Given the description of an element on the screen output the (x, y) to click on. 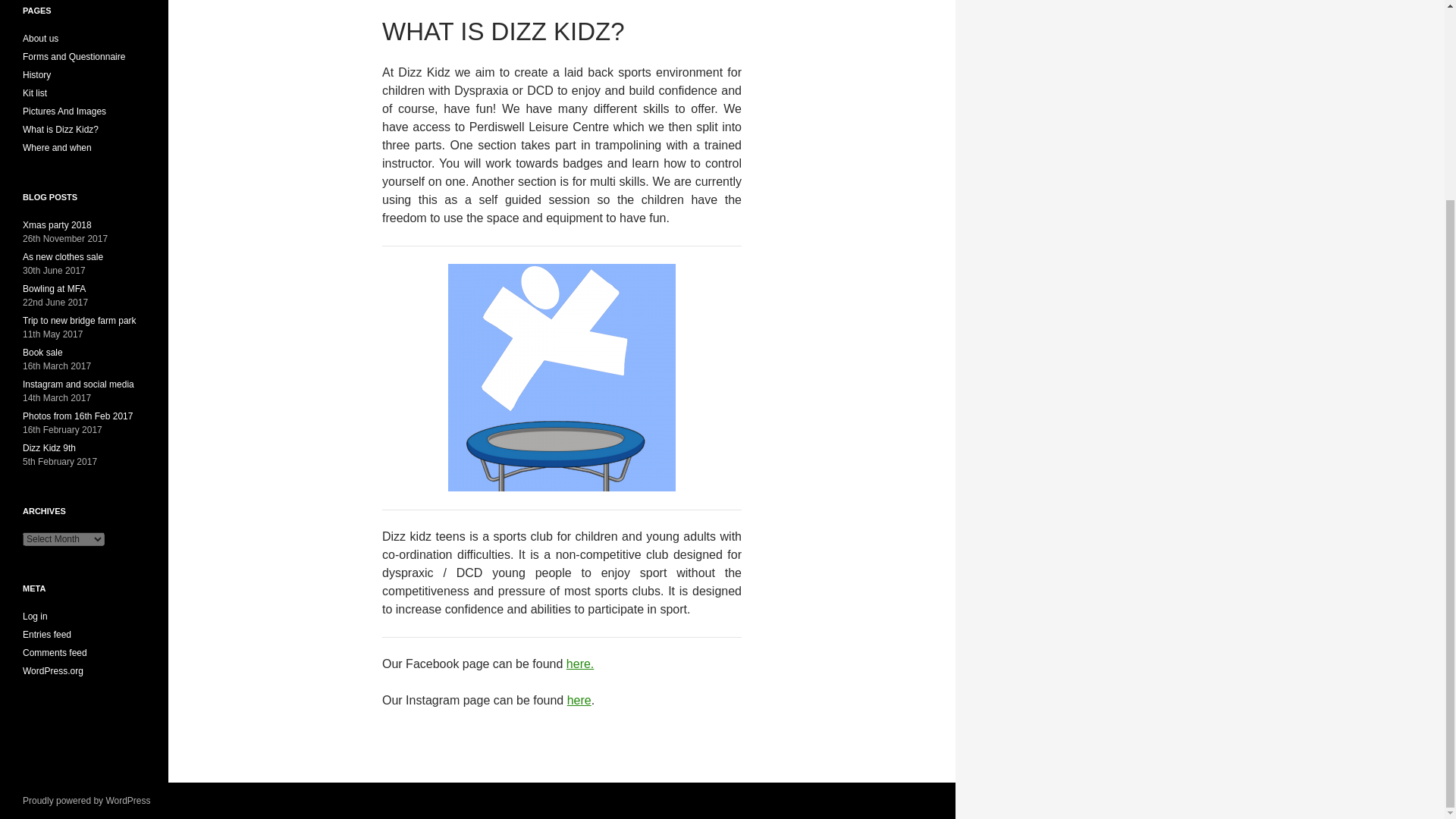
History (36, 74)
Entries feed (47, 634)
Photos from 16th Feb 2017 (77, 416)
As new clothes sale (63, 256)
Xmas party 2018 (57, 225)
here (579, 699)
Where and when (57, 147)
Forms and Questionnaire (74, 56)
Pictures And Images (64, 111)
here. (580, 663)
